Given the description of an element on the screen output the (x, y) to click on. 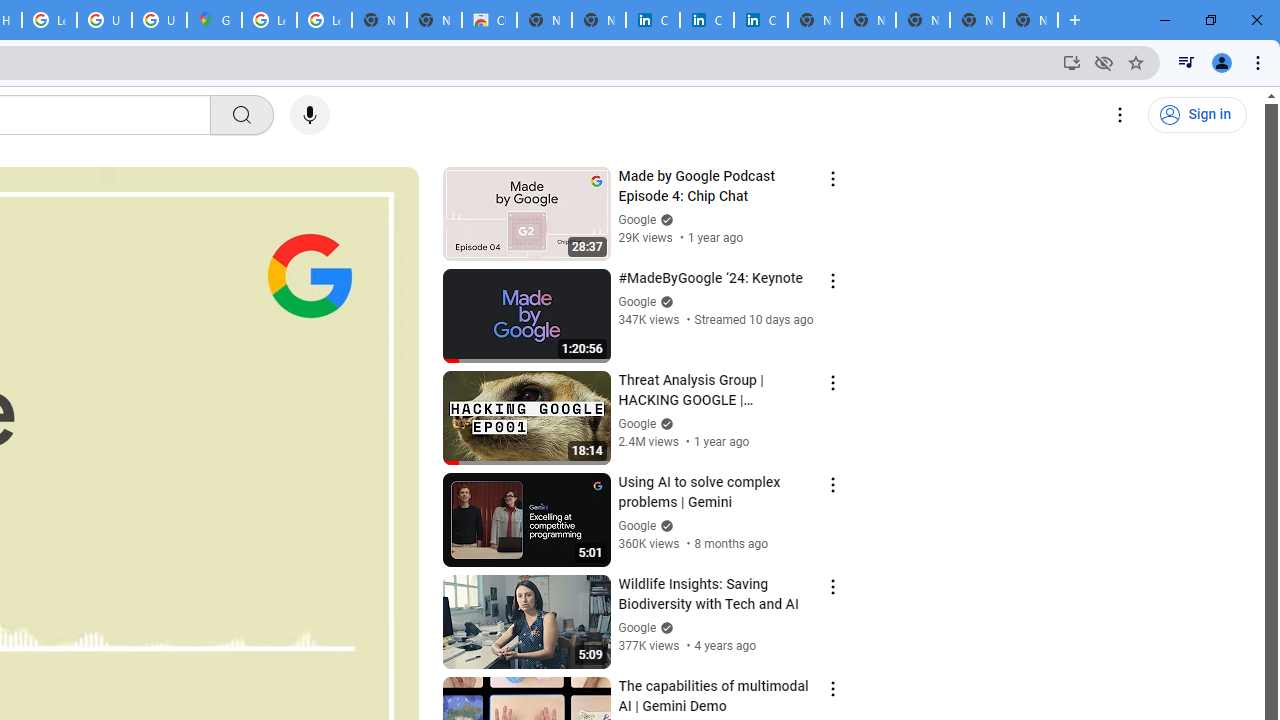
Verified (664, 627)
